Given the description of an element on the screen output the (x, y) to click on. 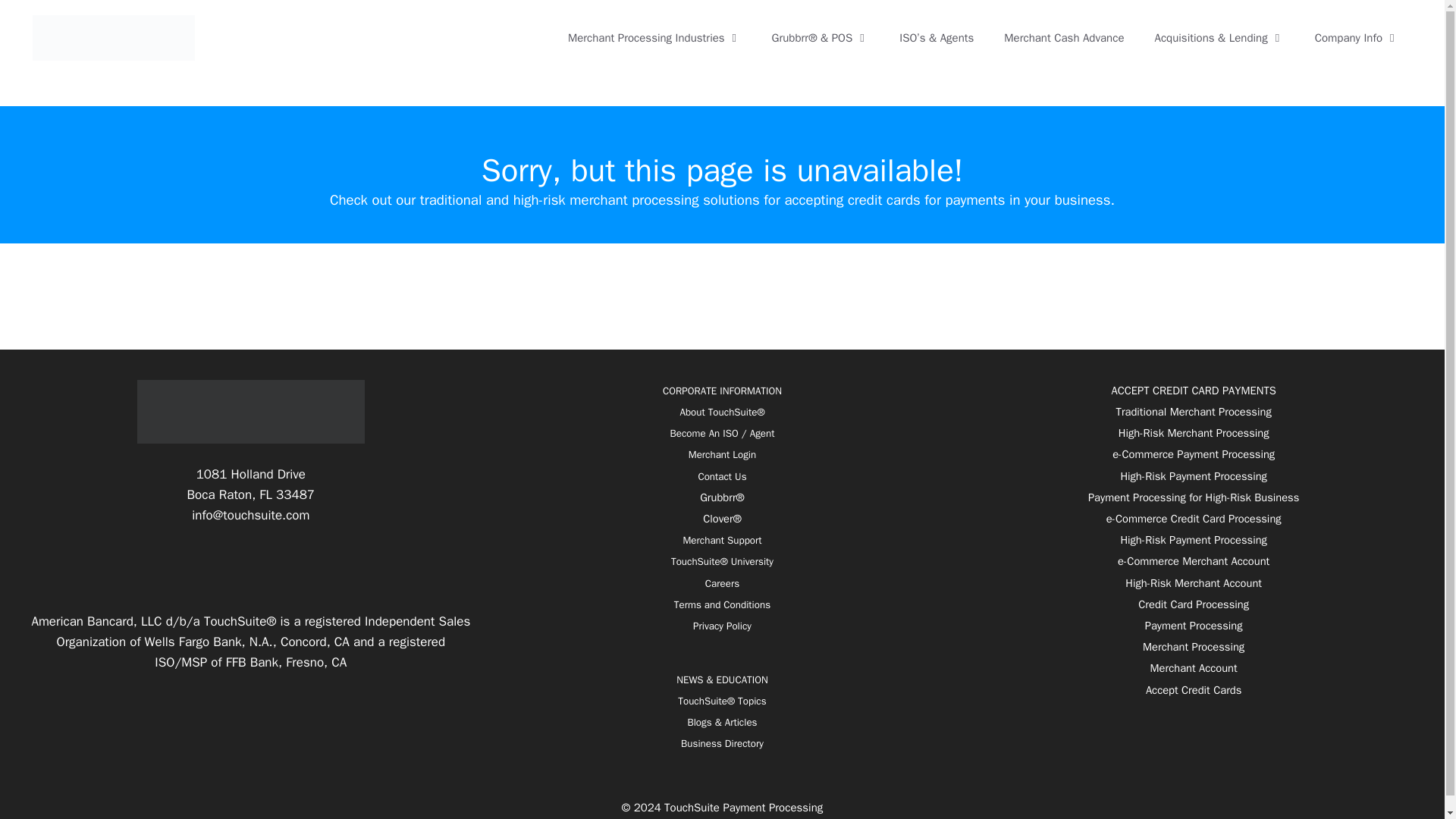
Company Info (1356, 37)
Merchant Cash Advance (1063, 37)
Merchant Processing Industries (655, 37)
Merchant Login (721, 454)
